Given the description of an element on the screen output the (x, y) to click on. 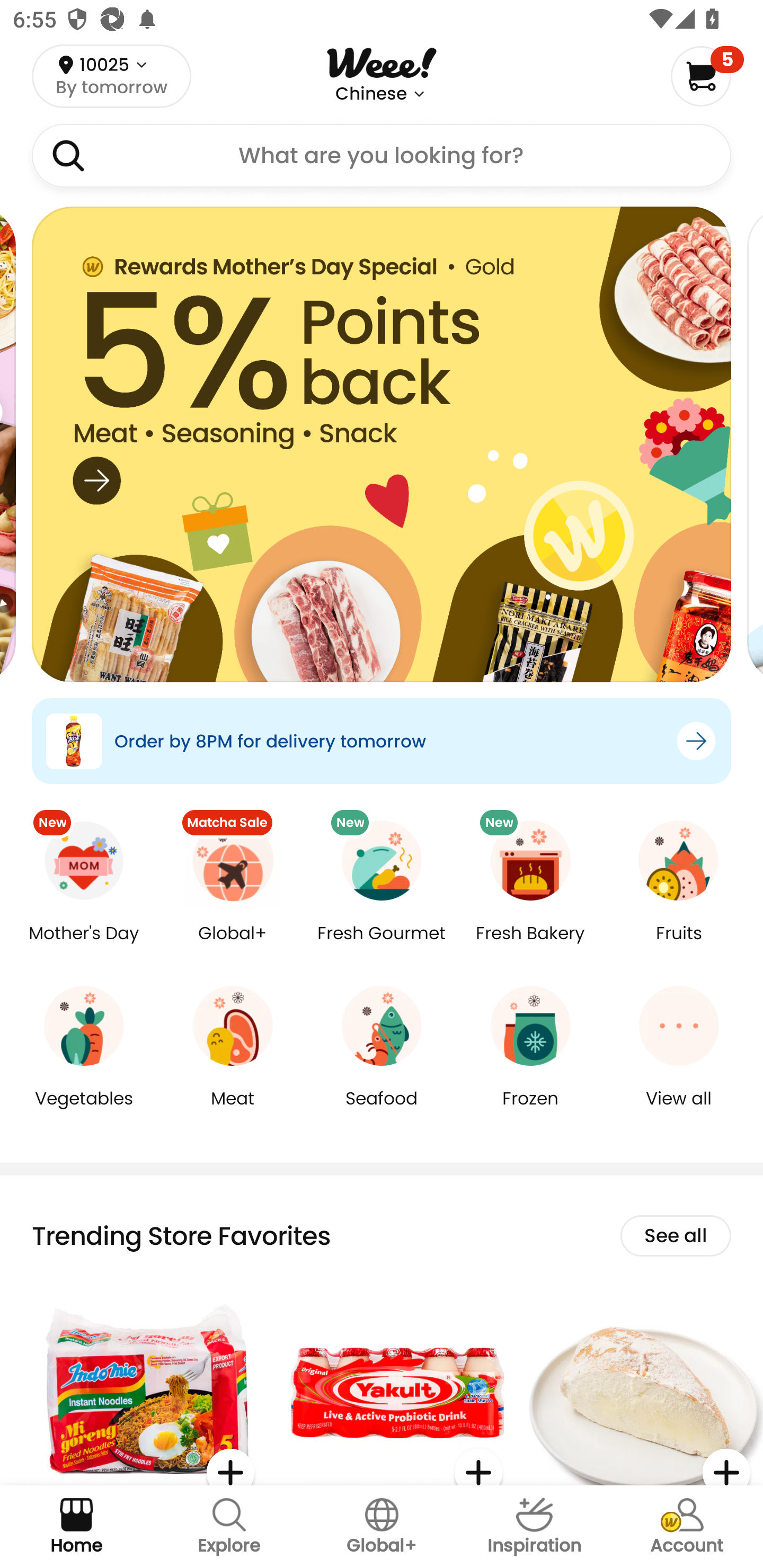
10025 By tomorrow (111, 75)
5 (706, 75)
Chinese (370, 93)
What are you looking for? (381, 155)
Order by 8PM for delivery tomorrow (381, 740)
Mother's Day (83, 946)
Global+ (232, 946)
Fresh Gourmet (381, 946)
Fresh Bakery (530, 946)
Fruits (678, 946)
Vegetables (83, 1111)
Meat (232, 1111)
Seafood (381, 1111)
Frozen (530, 1111)
View all (678, 1111)
Home (76, 1526)
Explore (228, 1526)
Global+ (381, 1526)
Inspiration (533, 1526)
Account (686, 1526)
